Given the description of an element on the screen output the (x, y) to click on. 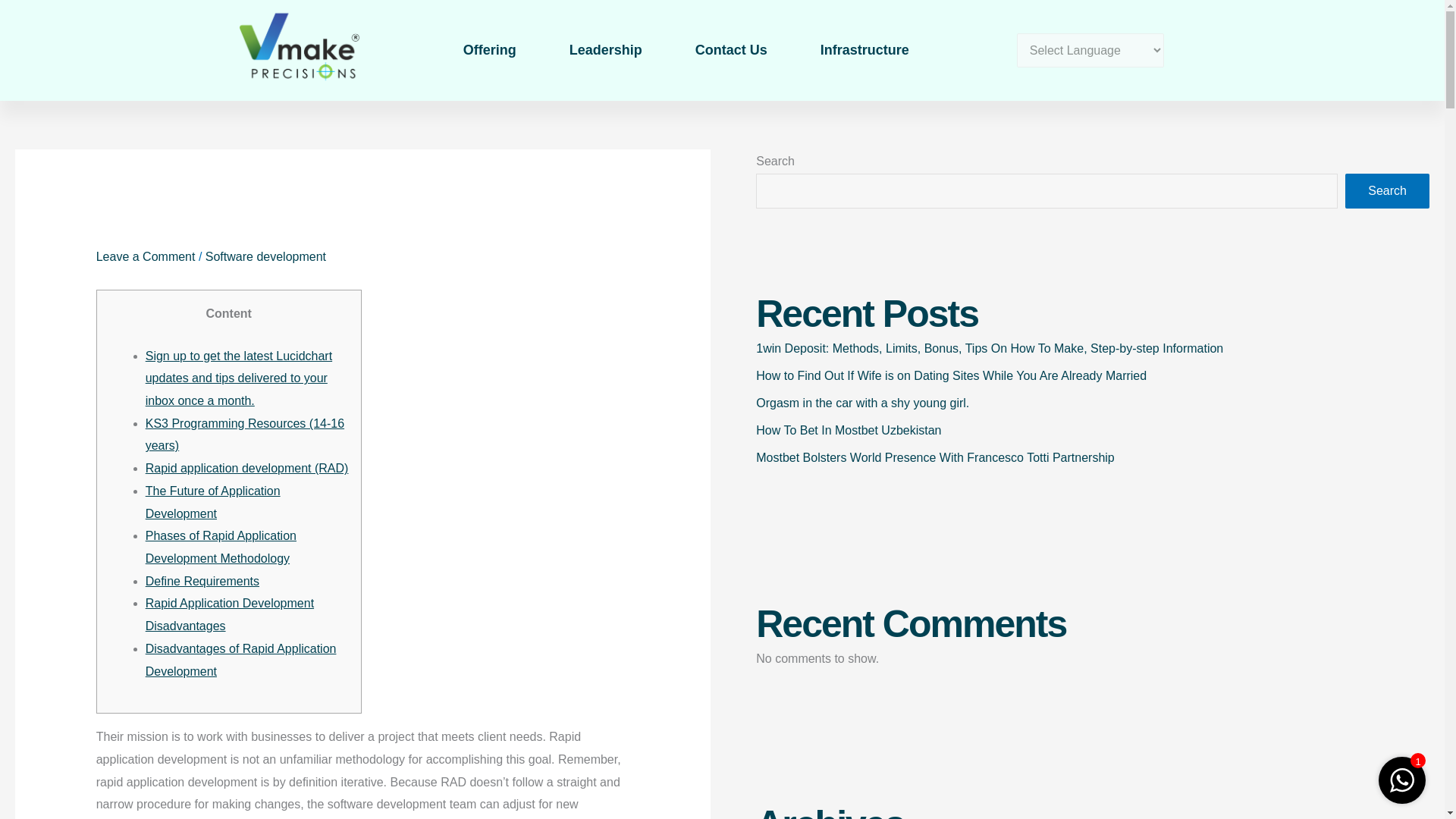
Leave a Comment (145, 256)
Search (1387, 190)
Define Requirements (202, 581)
Infrastructure (864, 50)
Leadership (605, 50)
The Future of Application Development (213, 502)
Orgasm in the car with a shy young girl. (862, 402)
Offering (489, 50)
Rapid Application Development Disadvantages (229, 614)
Disadvantages of Rapid Application Development (240, 660)
How To Bet In Mostbet Uzbekistan (847, 430)
